Given the description of an element on the screen output the (x, y) to click on. 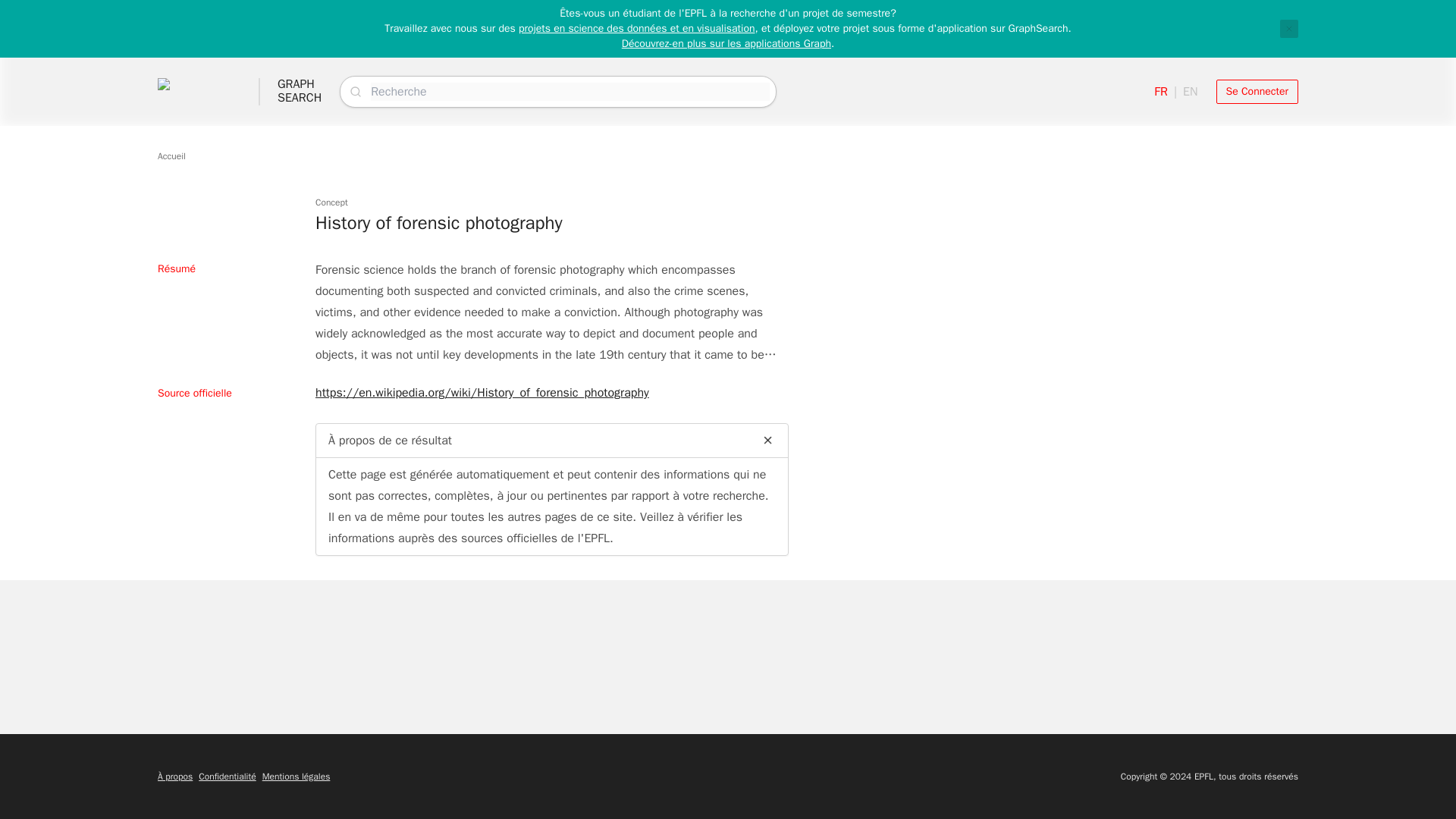
Se Connecter (1256, 91)
Accueil (171, 155)
Close notification (299, 90)
